Given the description of an element on the screen output the (x, y) to click on. 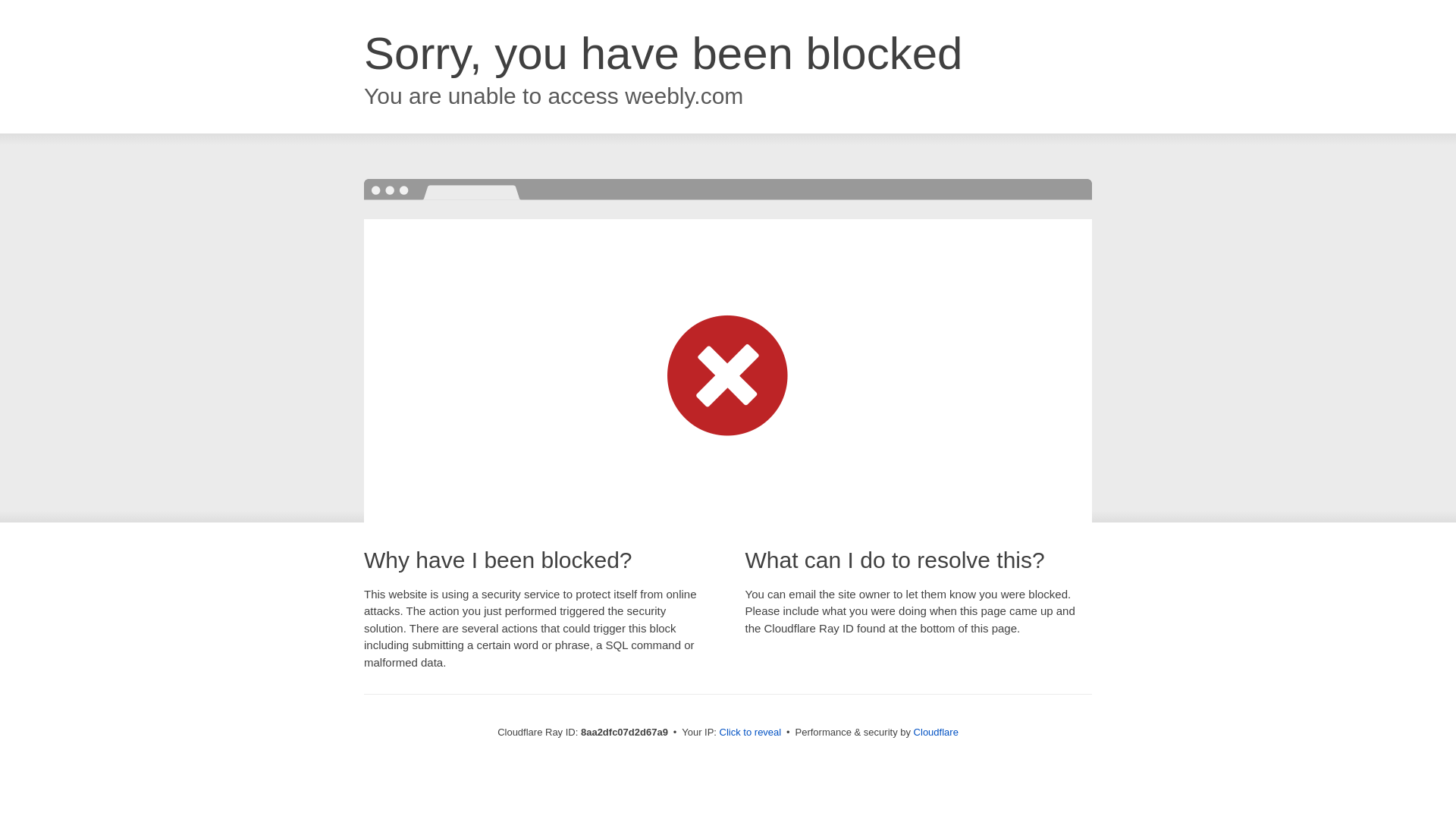
Cloudflare (936, 731)
Click to reveal (750, 732)
